Given the description of an element on the screen output the (x, y) to click on. 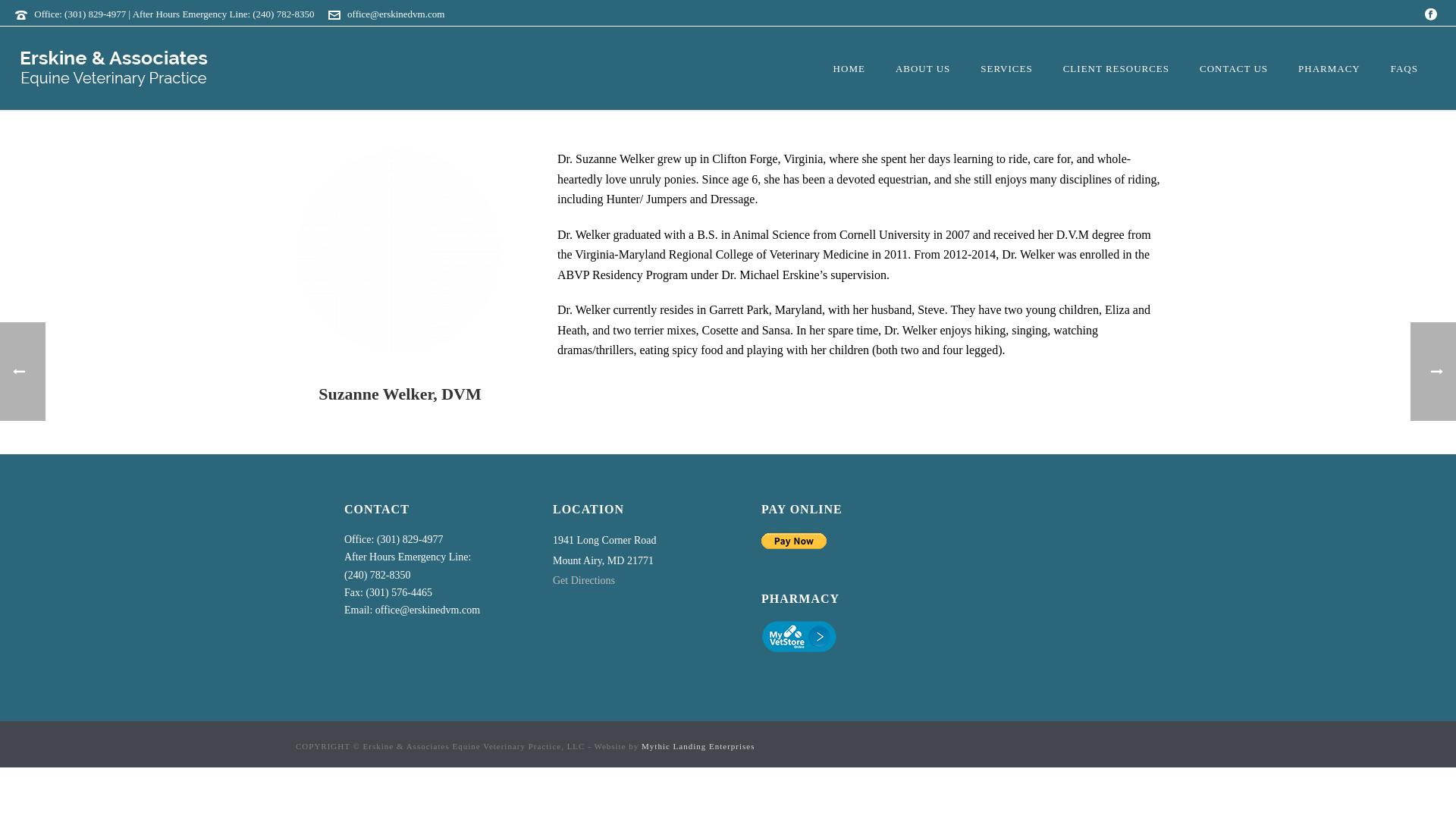
SERVICES (1005, 68)
PHARMACY (1328, 68)
FAQS (1403, 68)
HOME (849, 68)
CONTACT US (1233, 68)
CLIENT RESOURCES (1116, 68)
PHARMACY (1328, 68)
CLIENT RESOURCES (1116, 68)
FAQS (1403, 68)
CONTACT US (1233, 68)
